Given the description of an element on the screen output the (x, y) to click on. 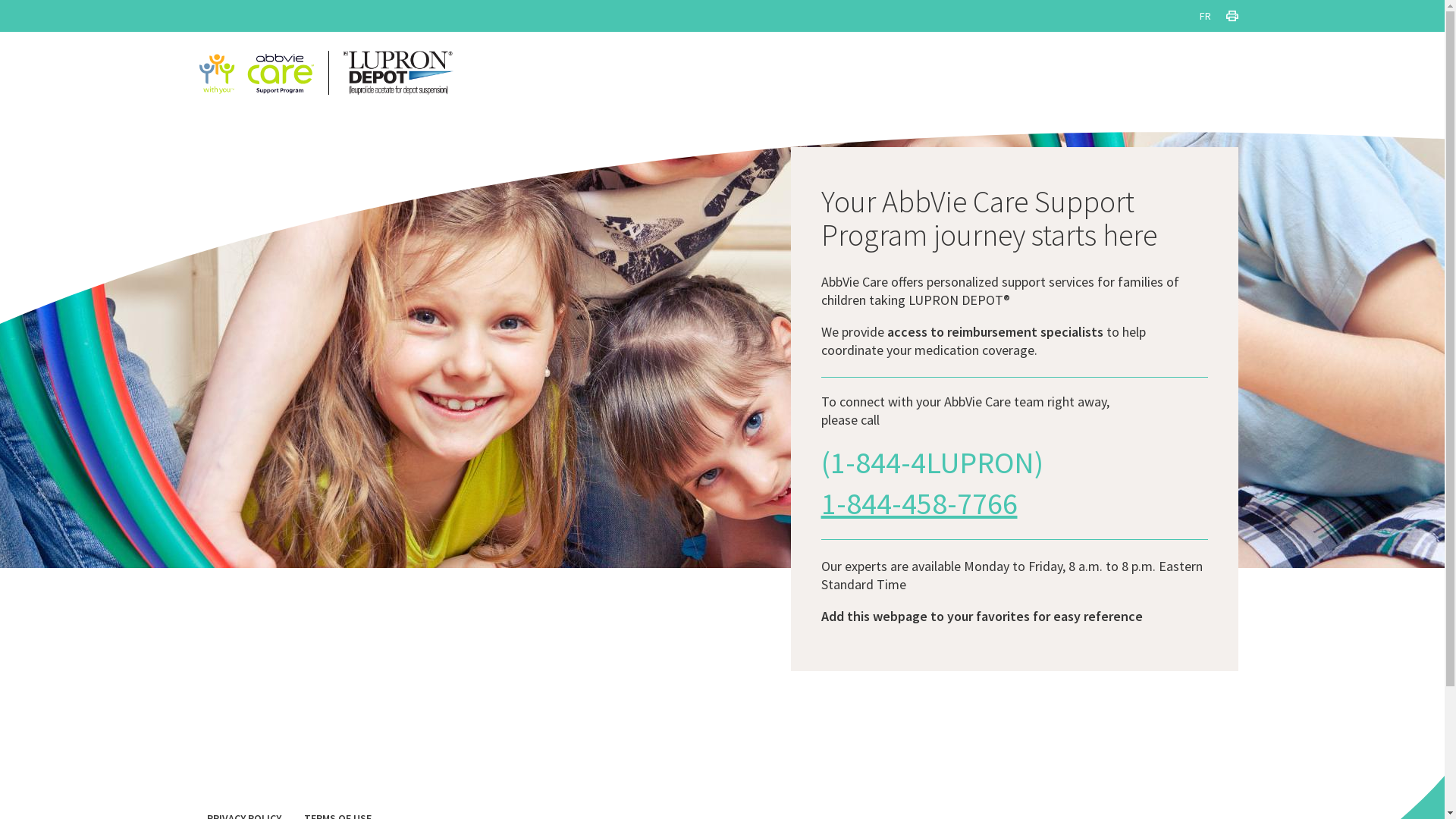
PRINT THIS PAGE Element type: text (1231, 15)
Terms of use Element type: text (33, 53)
FR Element type: text (1205, 15)
Privacy Policy Element type: text (35, 36)
1-844-458-7766 Element type: text (918, 503)
